Given the description of an element on the screen output the (x, y) to click on. 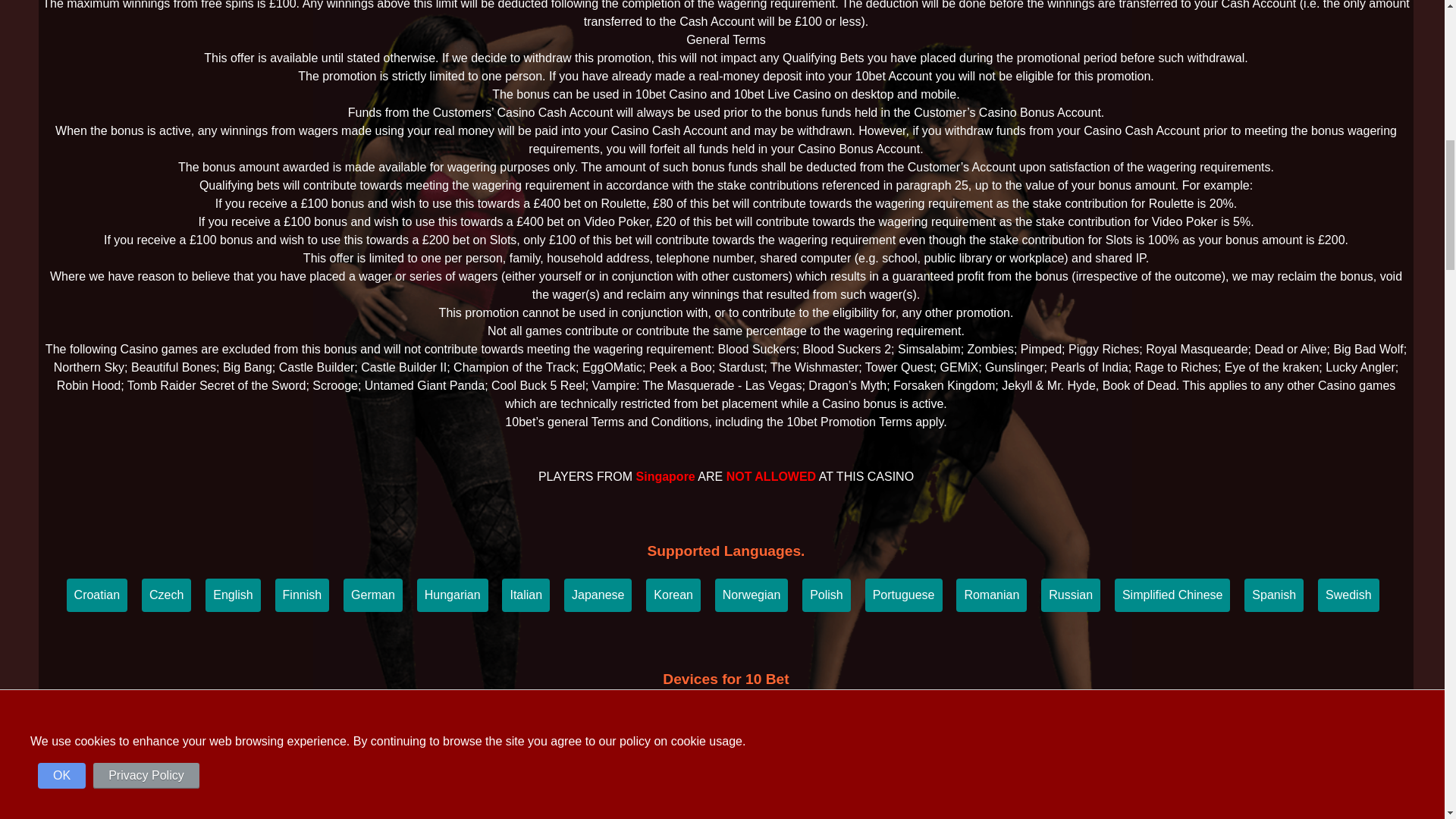
Czech Language (165, 594)
BlackBerry Device (660, 722)
Polish Language (826, 594)
Korean Language (673, 594)
Croatian Language (97, 594)
Romanian Language (991, 594)
Hungarian Language (451, 594)
German Language (373, 594)
Swedish Language (1347, 594)
Spanish Language (1273, 594)
Italian Language (526, 594)
Simplified Chinese Language (1172, 594)
Russian Language (1070, 594)
Finnish Language (302, 594)
Norwegian Language (750, 594)
